Given the description of an element on the screen output the (x, y) to click on. 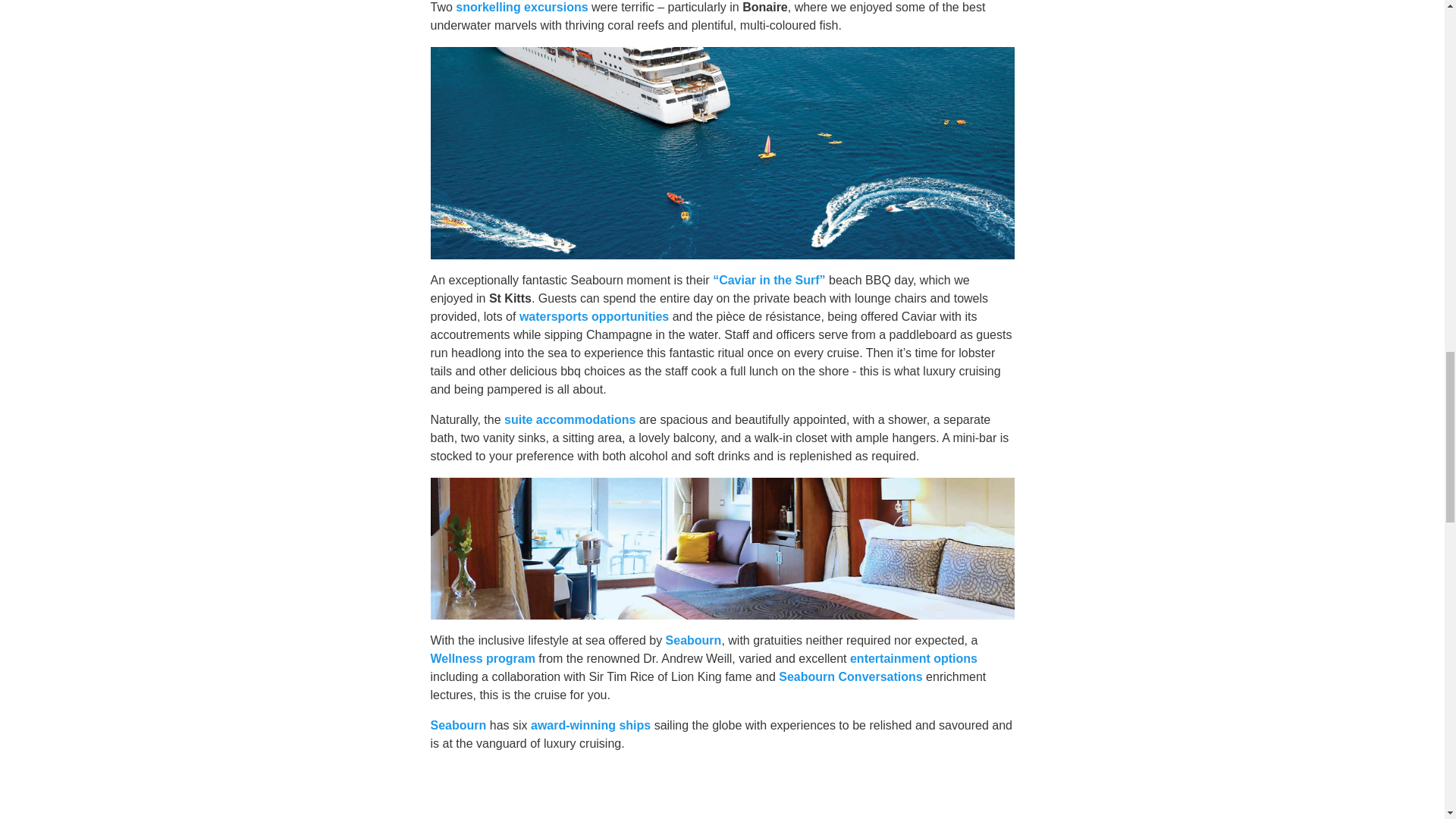
Wellness program (482, 658)
snorkelling excursions (521, 6)
suite accommodations (568, 419)
Seabourn (693, 640)
entertainment options (913, 658)
Seabourn (458, 725)
award-winning ships (590, 725)
Seabourn Conversations (849, 676)
watersports opportunities (593, 316)
